Given the description of an element on the screen output the (x, y) to click on. 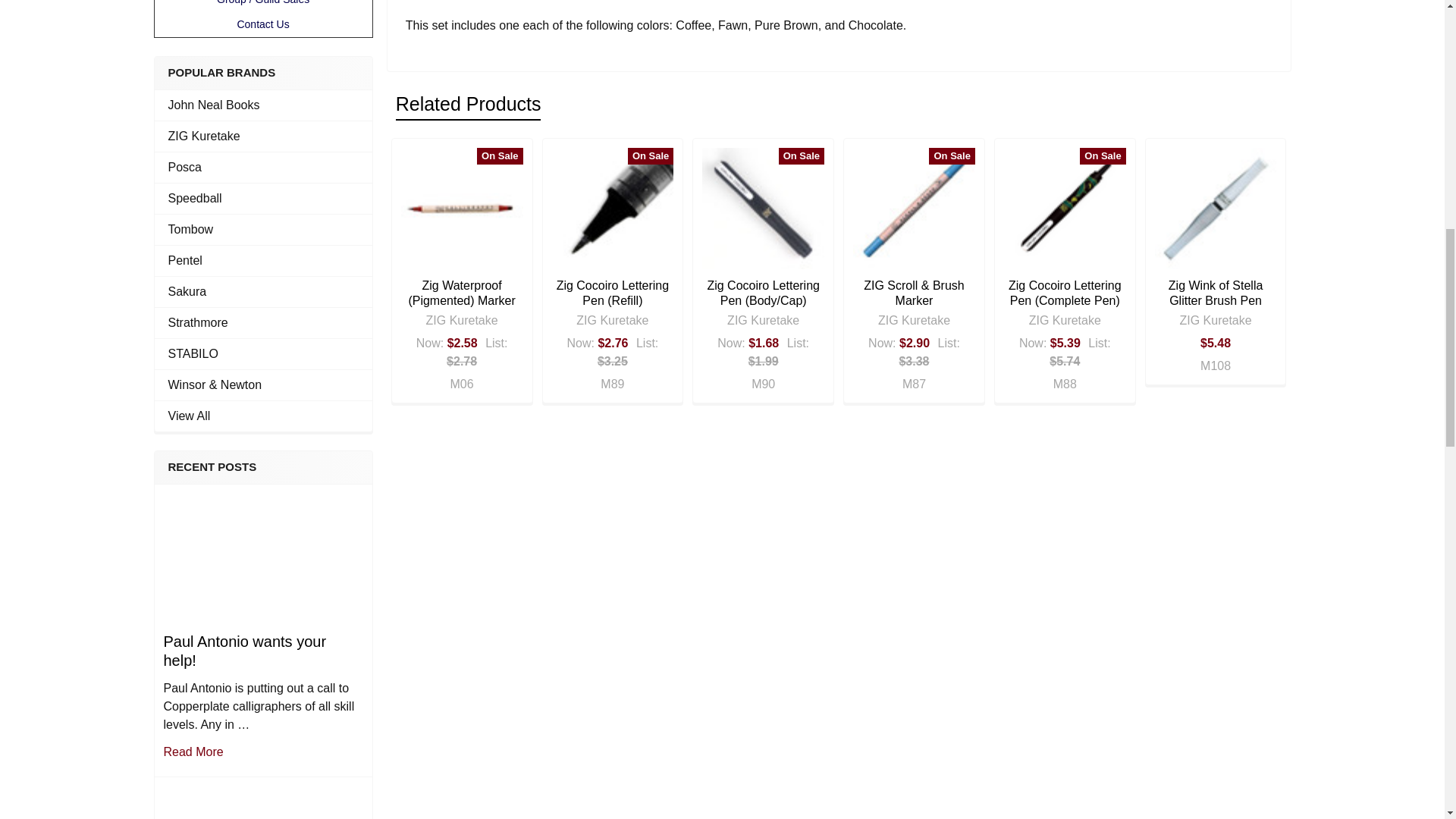
Pentel (263, 260)
Strathmore (263, 322)
Sakura (263, 291)
ZIG Kuretake (263, 136)
Tombow (263, 229)
Speedball (263, 198)
John Neal Books (263, 105)
A John Neal Books History Lesson: Manuscript (262, 800)
Posca (263, 167)
Paul Antonio wants your help!  (262, 556)
STABILO (263, 353)
